Given the description of an element on the screen output the (x, y) to click on. 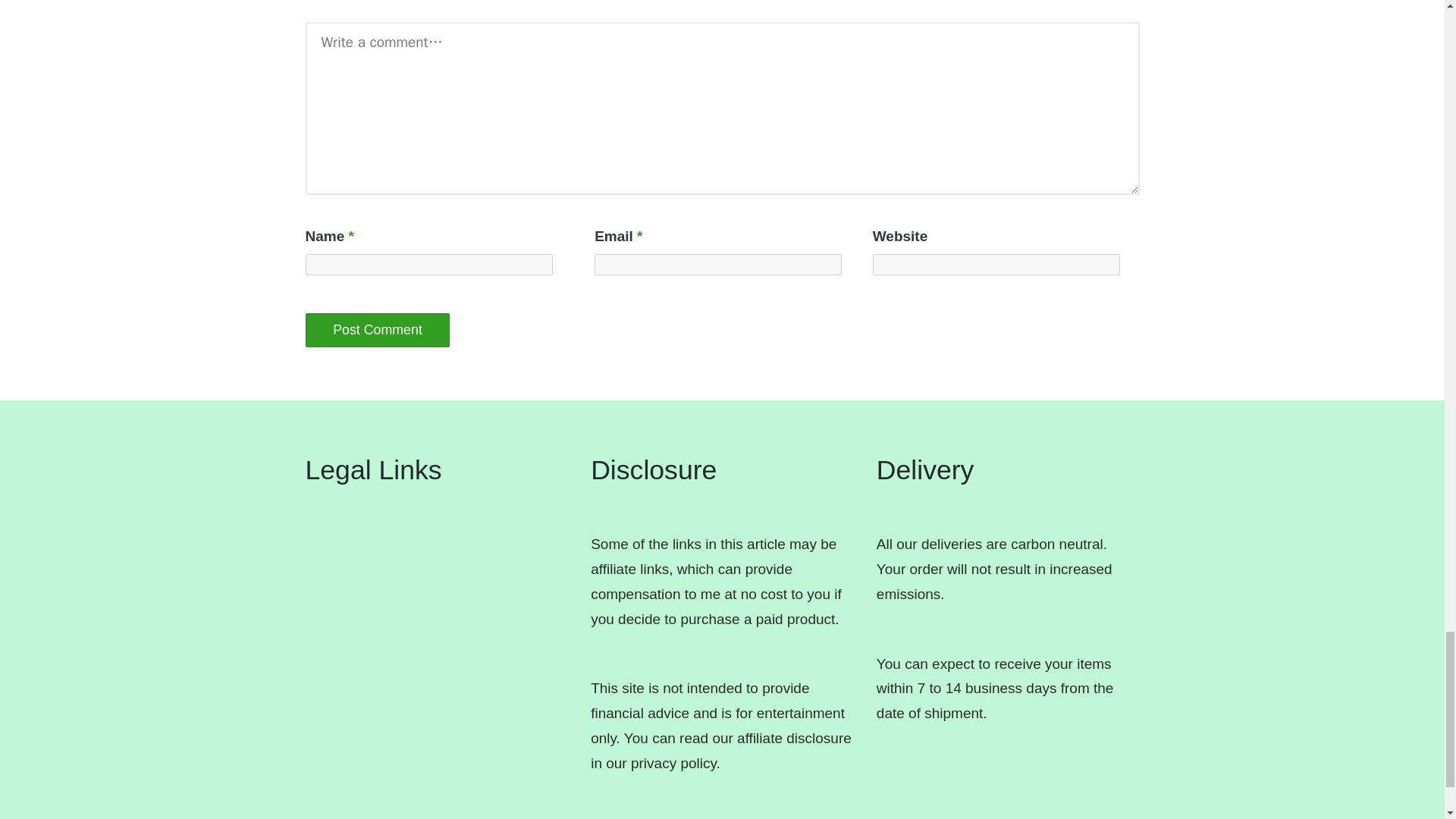
Post Comment (376, 329)
Post Comment (376, 329)
